Given the description of an element on the screen output the (x, y) to click on. 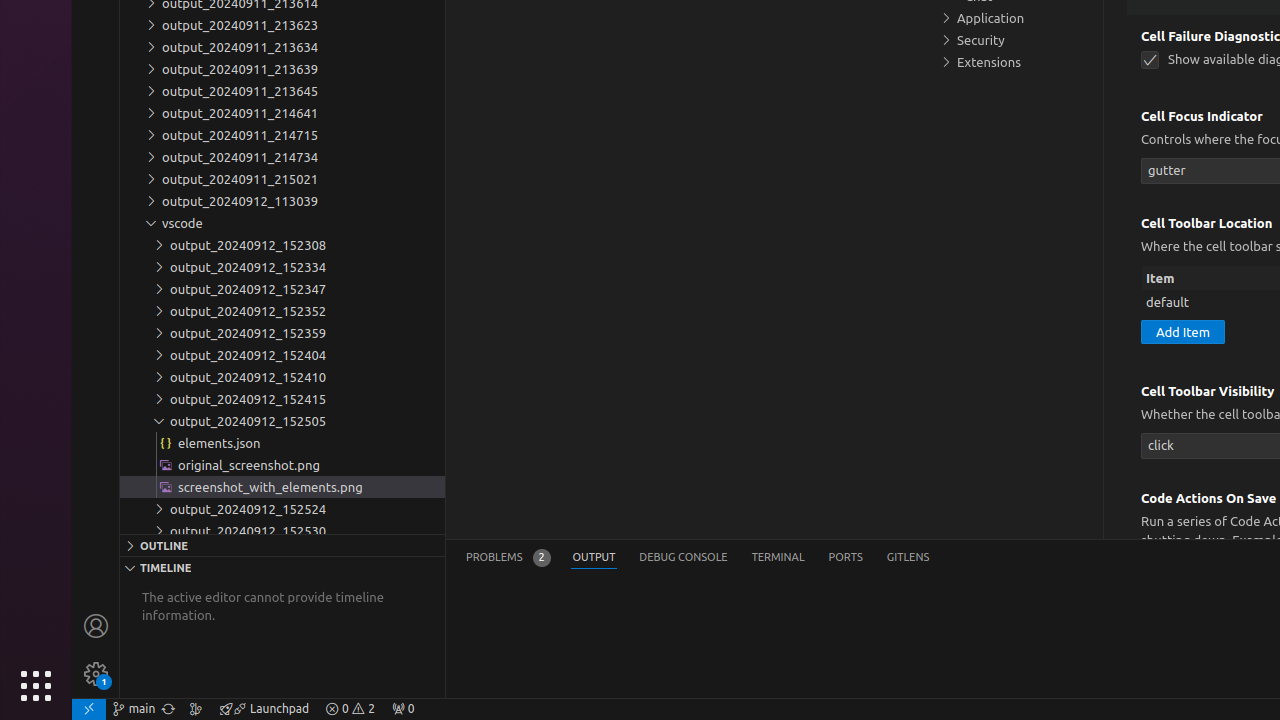
output_20240911_213639 Element type: tree-item (282, 69)
notebook.cellFailureDiagnostics Element type: check-box (1150, 60)
original_screenshot.png Element type: tree-item (282, 465)
elements.json Element type: tree-item (282, 443)
Show the GitLens Commit Graph Element type: push-button (196, 709)
